Given the description of an element on the screen output the (x, y) to click on. 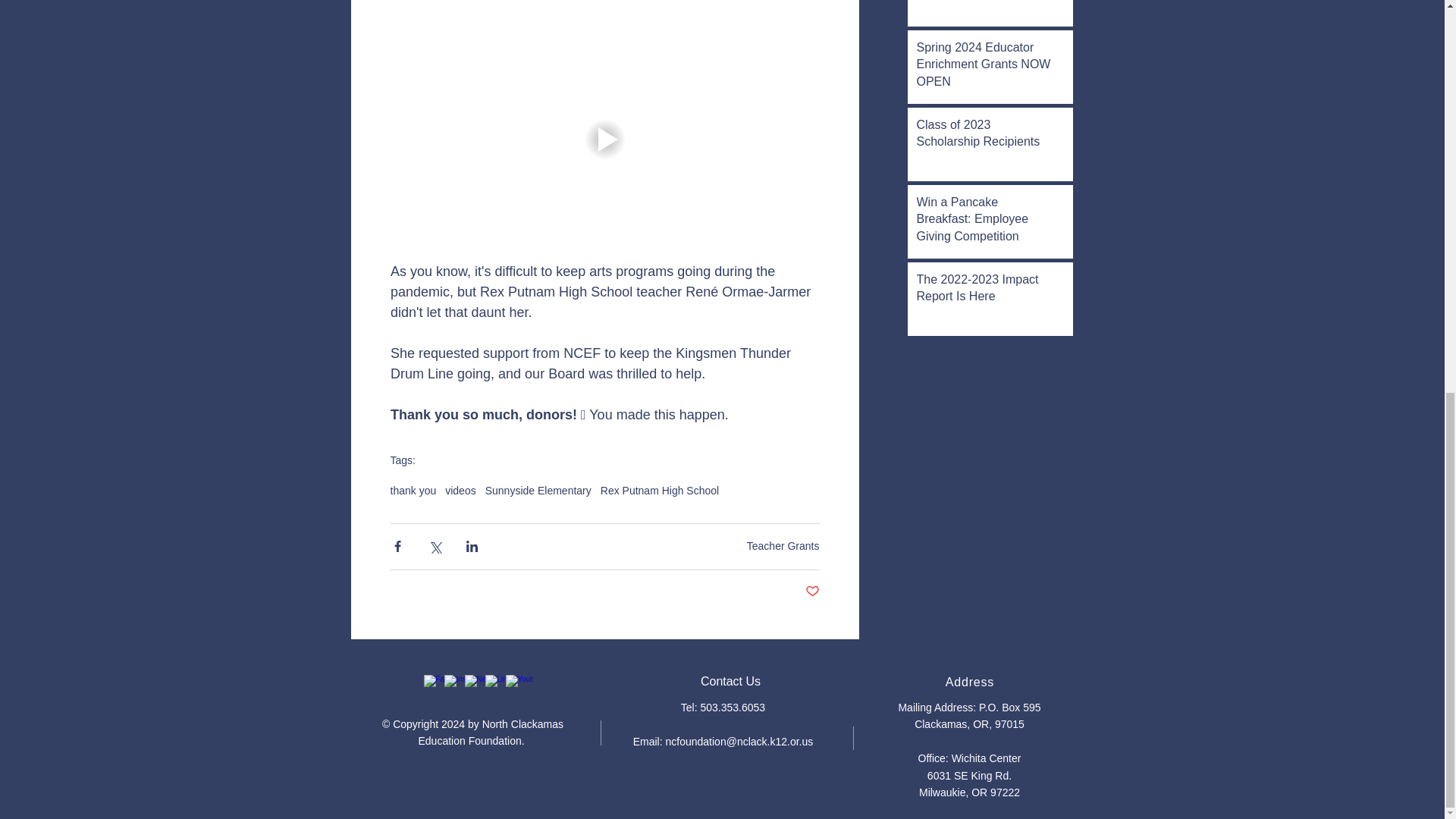
Spring 2024 Educator Enrichment Grants NOW OPEN (983, 67)
Sunnyside Elementary (537, 490)
Post not marked as liked (812, 591)
The 2022-2023 Impact Report Is Here (983, 291)
Teacher Grants (782, 545)
Rex Putnam High School (659, 490)
videos (460, 490)
thank you (412, 490)
A Kingsmen Thunder Thank You (983, 1)
Win a Pancake Breakfast: Employee Giving Competition (983, 222)
